Given the description of an element on the screen output the (x, y) to click on. 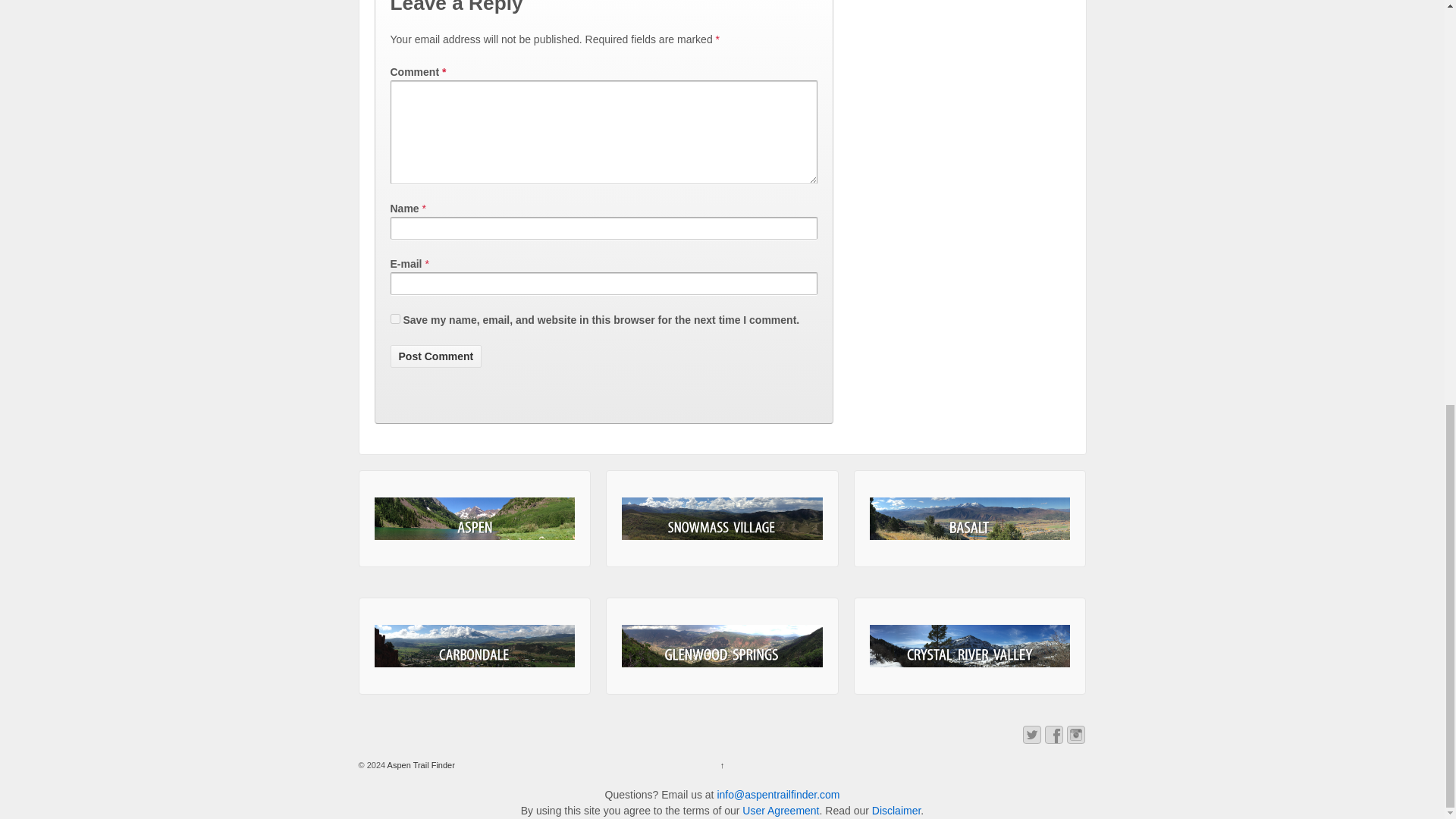
yes (394, 318)
Aspen Trail Finder (419, 764)
Post Comment (435, 355)
